Given the description of an element on the screen output the (x, y) to click on. 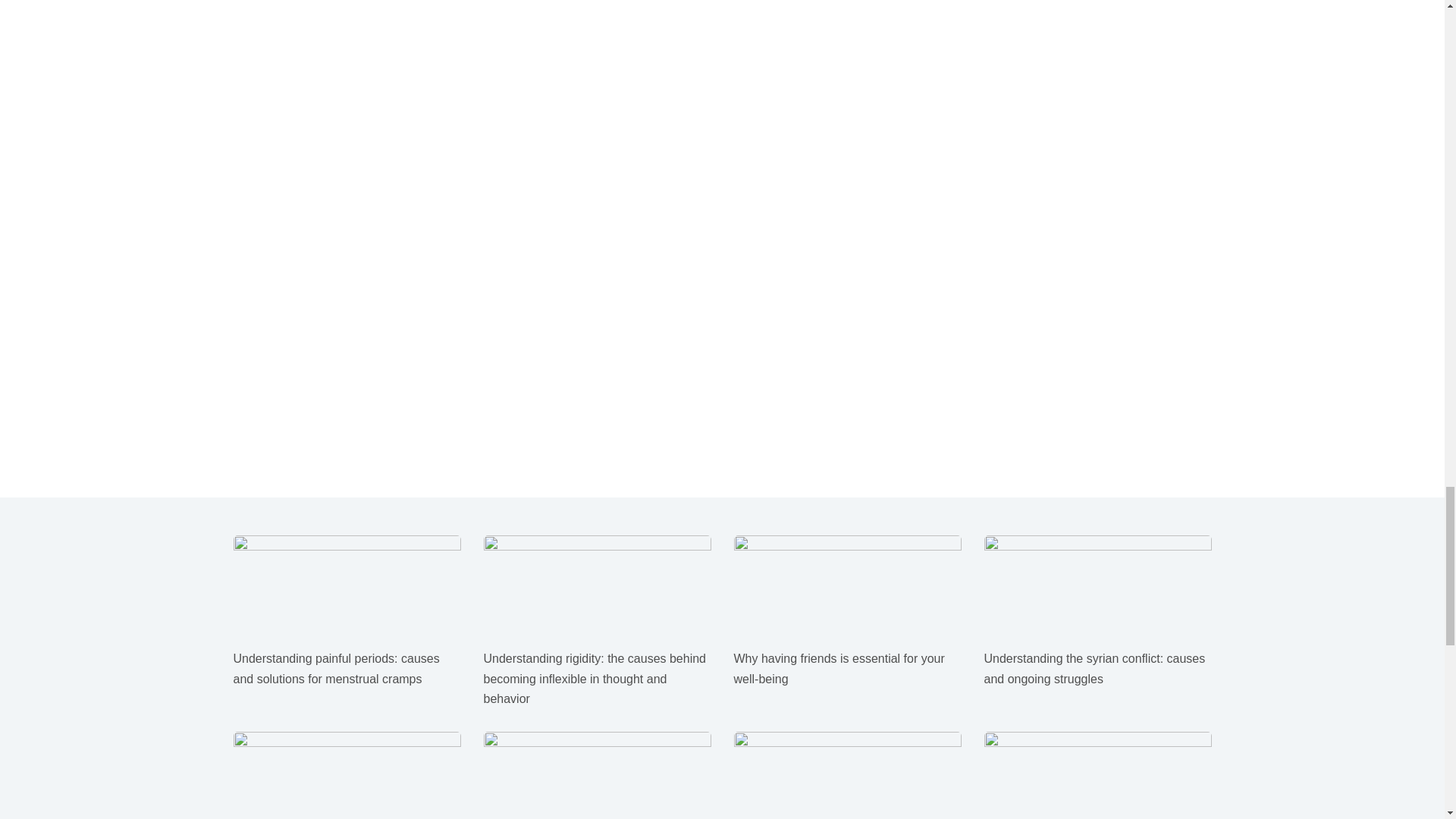
Next Post Robot Fun 101: A Cool Guide for Kids (722, 90)
Why having friends is essential for your well-being (838, 667)
